Given the description of an element on the screen output the (x, y) to click on. 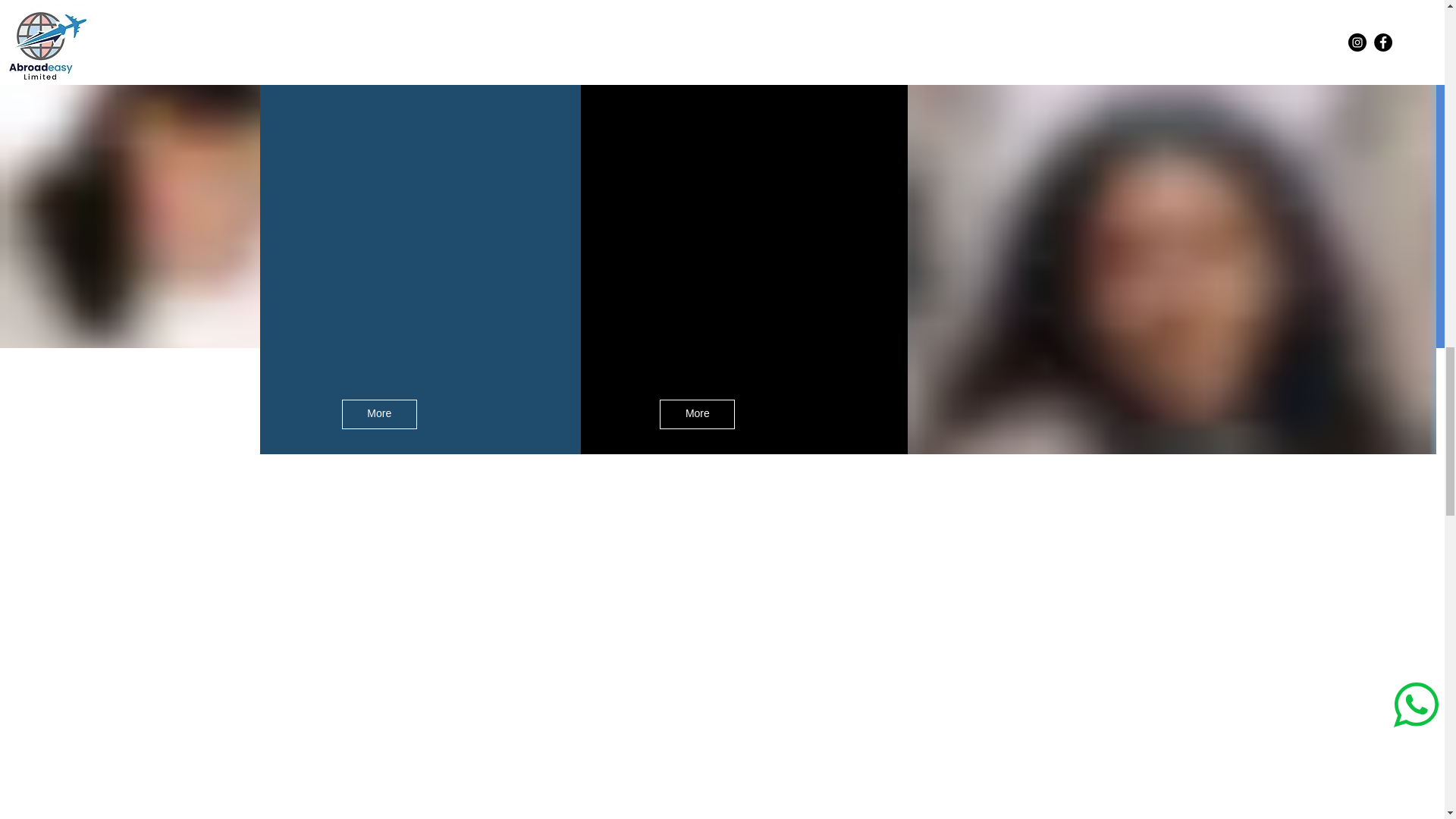
More (379, 414)
More (697, 414)
